Given the description of an element on the screen output the (x, y) to click on. 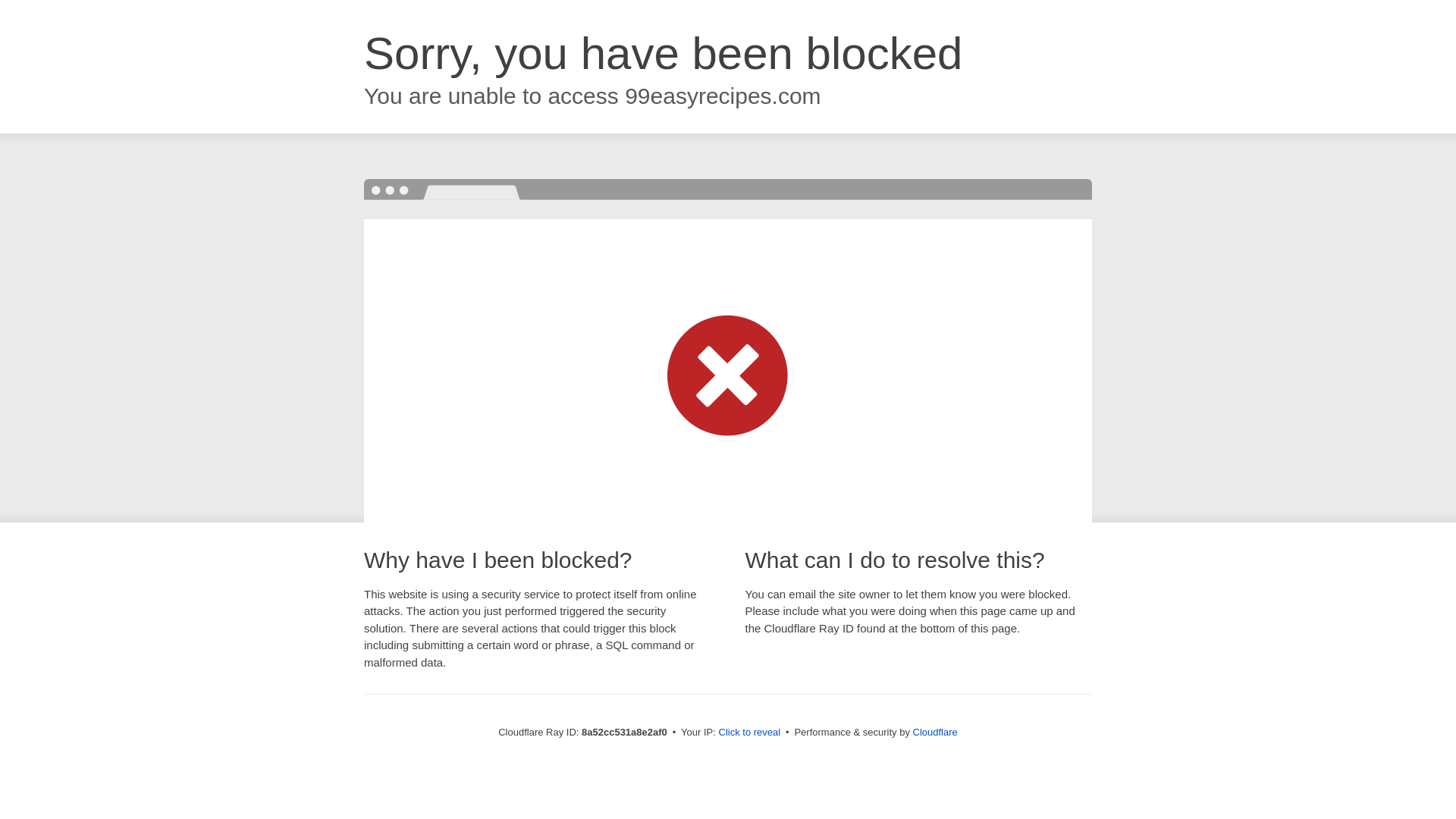
Click to reveal (749, 732)
Cloudflare (935, 731)
